Given the description of an element on the screen output the (x, y) to click on. 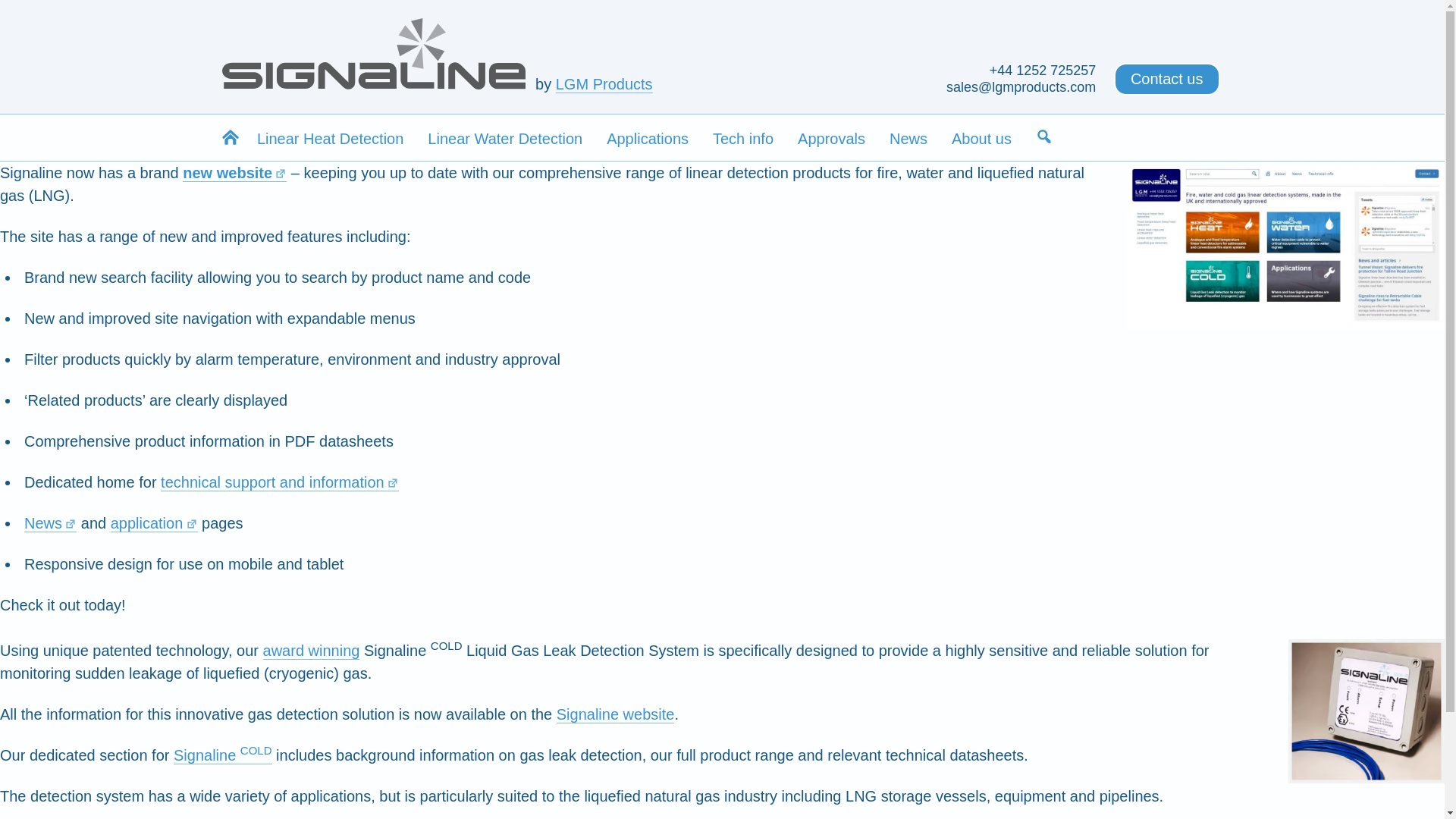
Linear Heat Detection (329, 138)
News (50, 523)
News (908, 138)
About us (981, 138)
Approvals (831, 138)
Tech info (743, 138)
by LGM Products - click to go to the LGM Products website (604, 84)
This link will open in a new browser window or tab. (234, 172)
Contact LGM Products about Signaline (1166, 79)
award winning (311, 651)
